Given the description of an element on the screen output the (x, y) to click on. 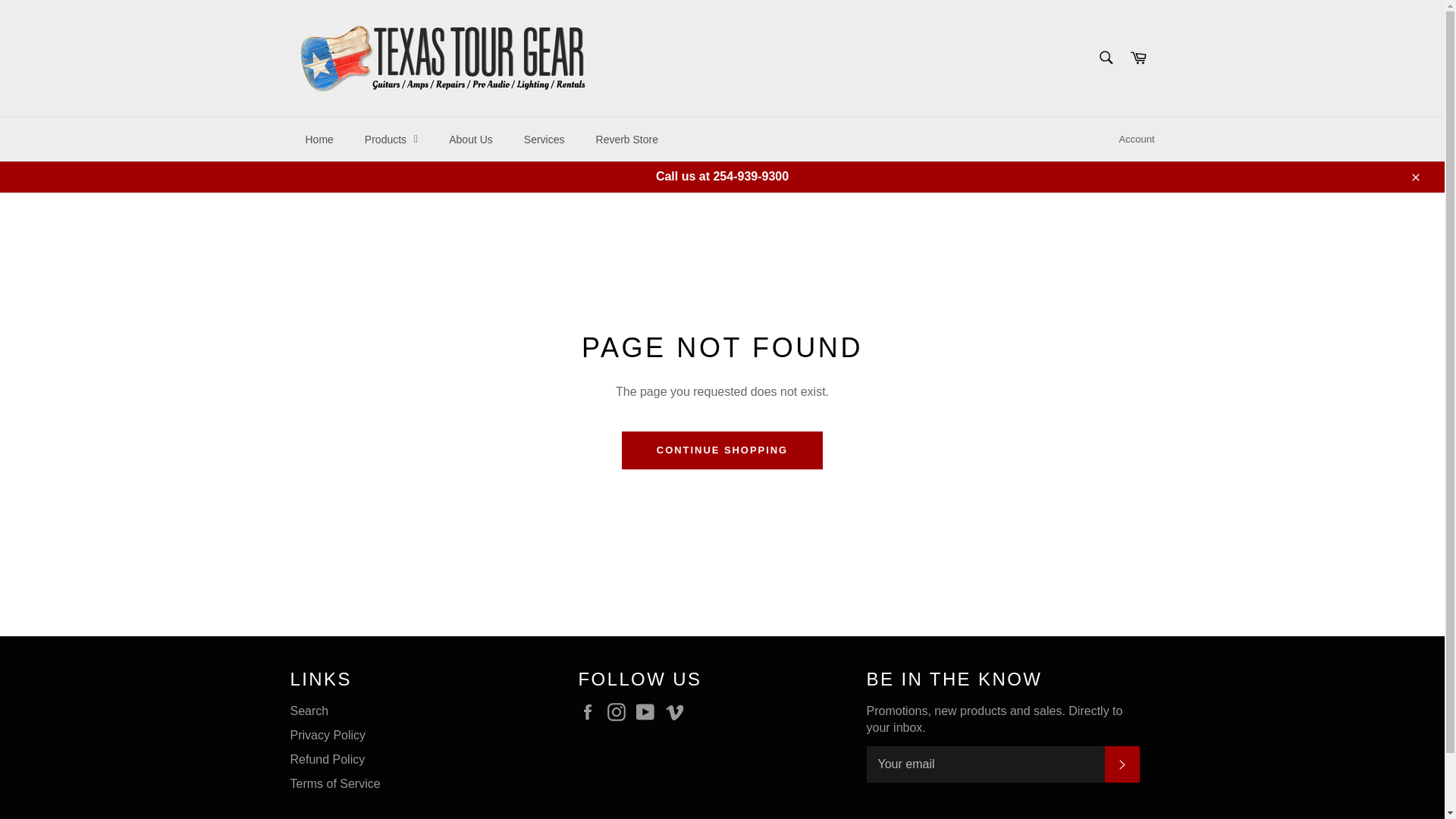
Texas Tour Gear on Facebook (591, 711)
Texas Tour Gear on YouTube (649, 711)
Texas Tour Gear on Instagram (620, 711)
Texas Tour Gear on Vimeo (678, 711)
